Given the description of an element on the screen output the (x, y) to click on. 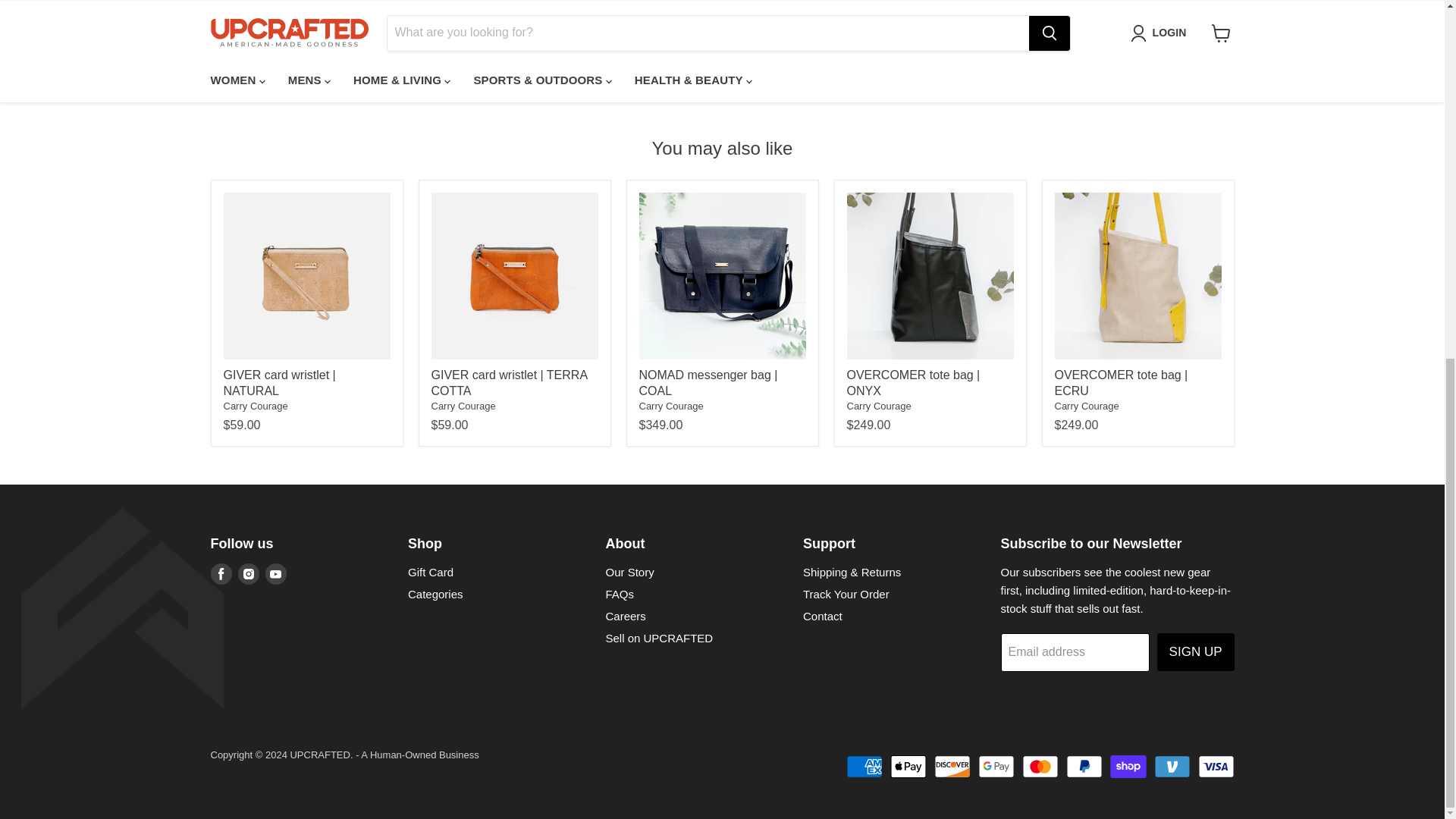
Instagram (248, 573)
Apple Pay (907, 766)
Carry Courage (1086, 405)
Carry Courage (878, 405)
Carry Courage (254, 405)
Carry Courage (671, 405)
Carry Courage (462, 405)
American Express (863, 766)
Youtube (275, 573)
Facebook (221, 573)
